Given the description of an element on the screen output the (x, y) to click on. 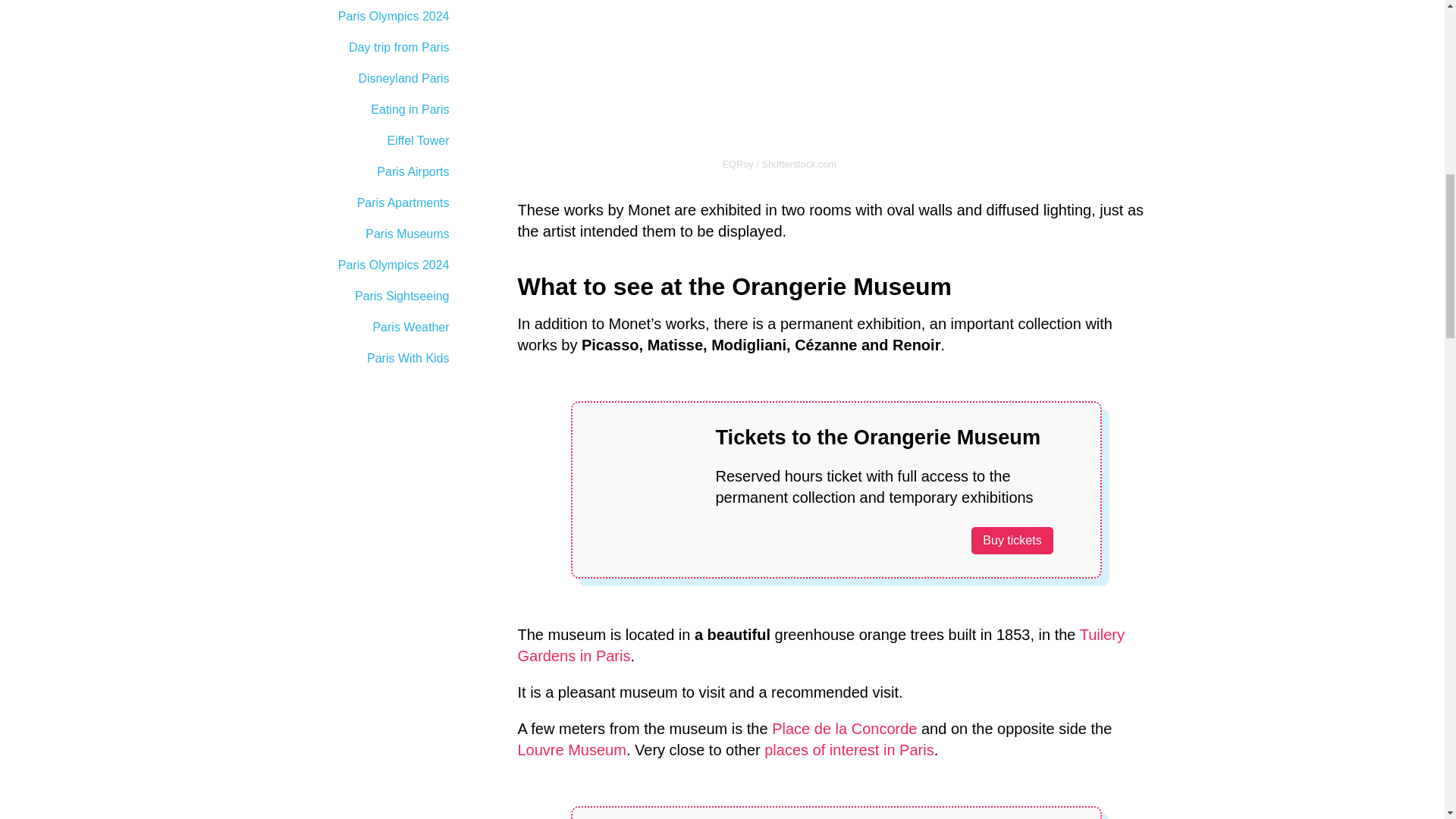
Paris Airports (357, 172)
Paris With Kids (357, 358)
Tuilery Gardens in Paris (820, 645)
Paris Museums (357, 234)
Buy tickets (1011, 539)
Eiffel Tower (357, 141)
Paris Olympics 2024 (357, 265)
Paris Olympics 2024 (357, 16)
Disneyland Paris (357, 78)
Paris Sightseeing (357, 296)
Place de la Concorde (844, 728)
Paris Weather (357, 327)
Paris Apartments (357, 203)
Eating in Paris (357, 110)
Day trip from Paris (357, 47)
